Given the description of an element on the screen output the (x, y) to click on. 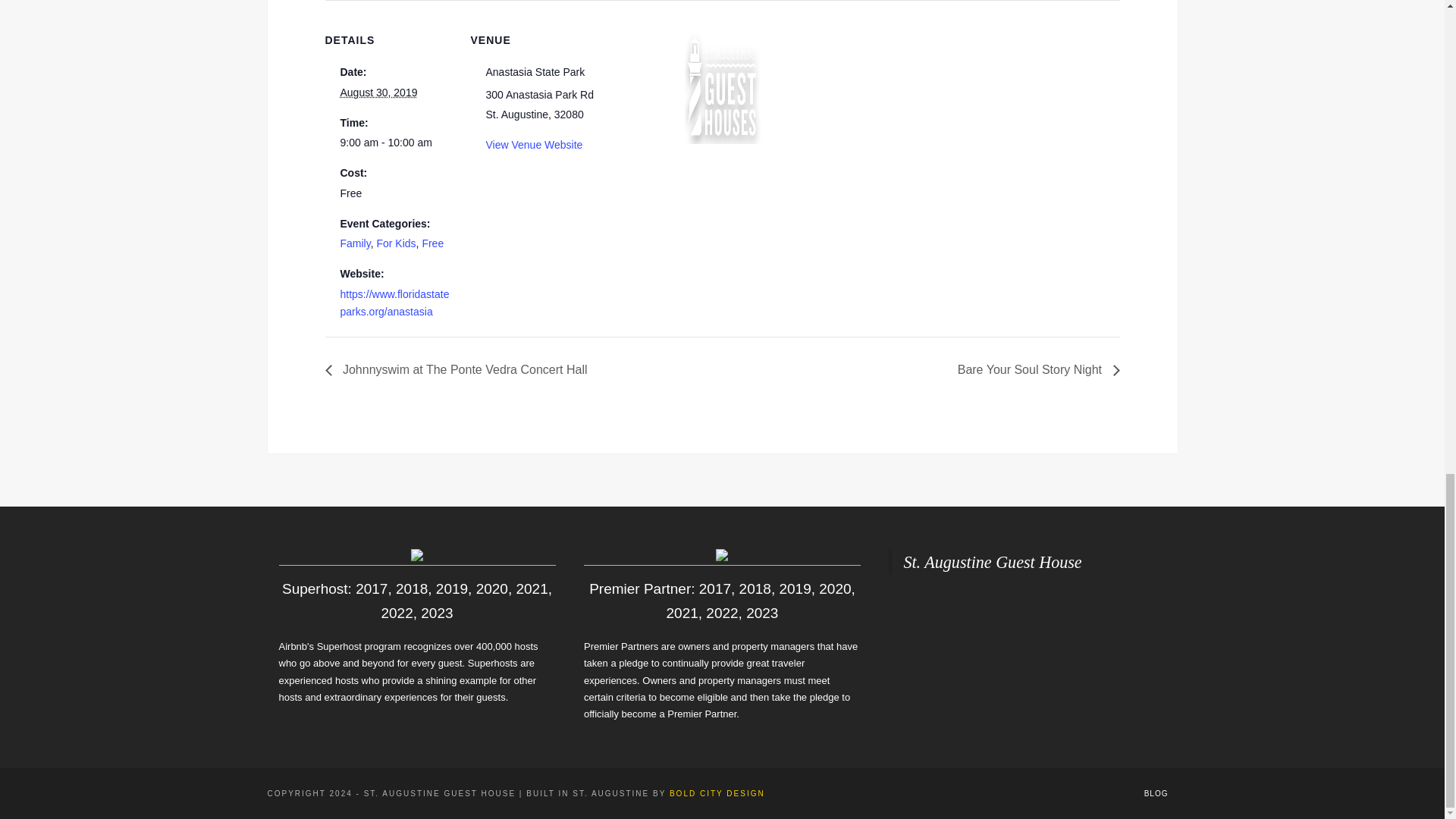
Bare Your Soul Story Night (1034, 369)
For Kids (394, 243)
Free (433, 243)
View Venue Website (533, 144)
2019-08-30 (377, 92)
St. Augustine Guest House (991, 561)
Family (354, 243)
Johnnyswim at The Ponte Vedra Concert Hall (459, 369)
2019-08-30 (395, 143)
